Given the description of an element on the screen output the (x, y) to click on. 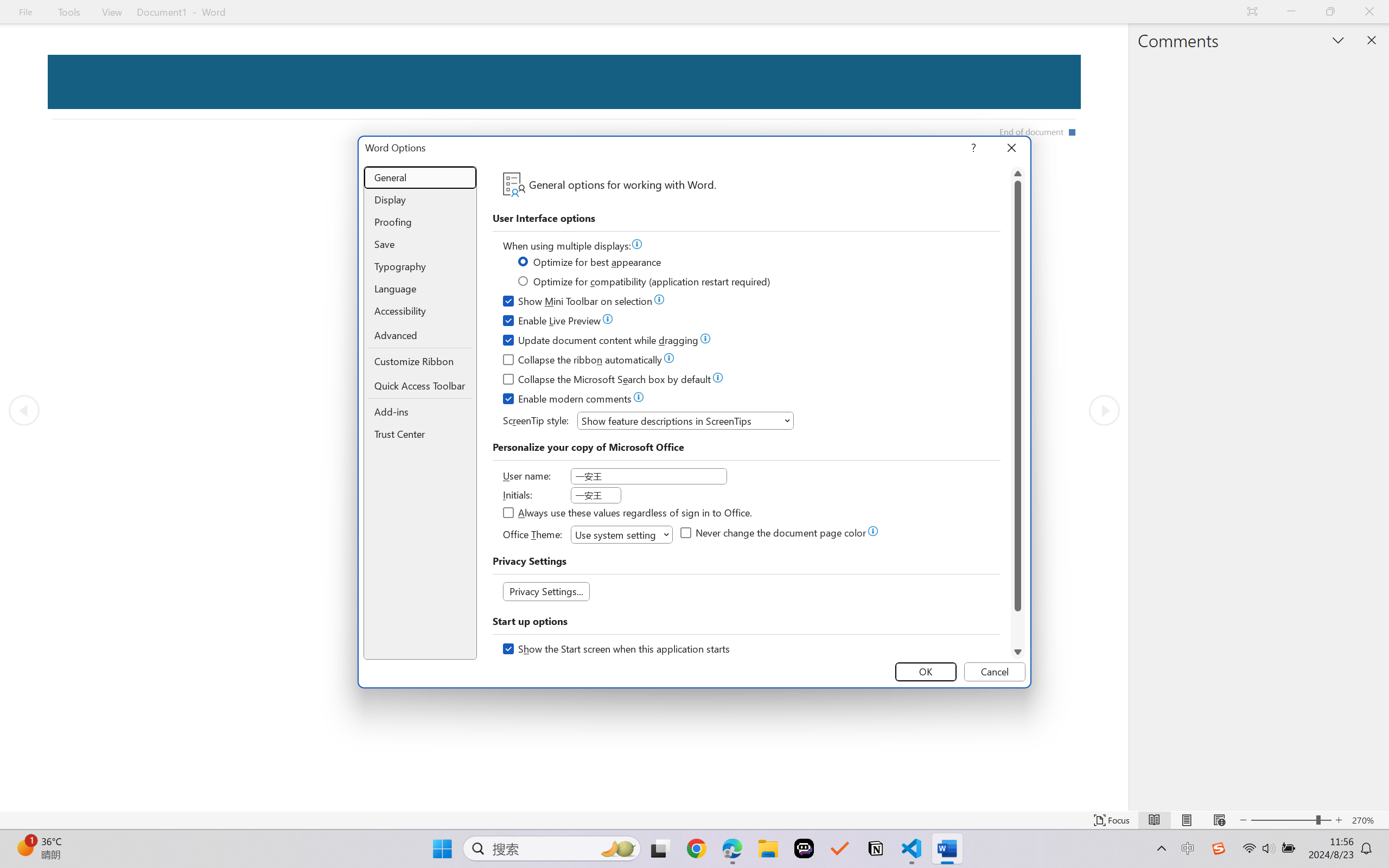
Auto-hide Reading Toolbar (1252, 11)
Privacy Settings... (546, 591)
General (419, 177)
Decrease Text Size (1243, 819)
User name (648, 476)
Text Size (1291, 819)
Update document content while dragging (601, 341)
